Given the description of an element on the screen output the (x, y) to click on. 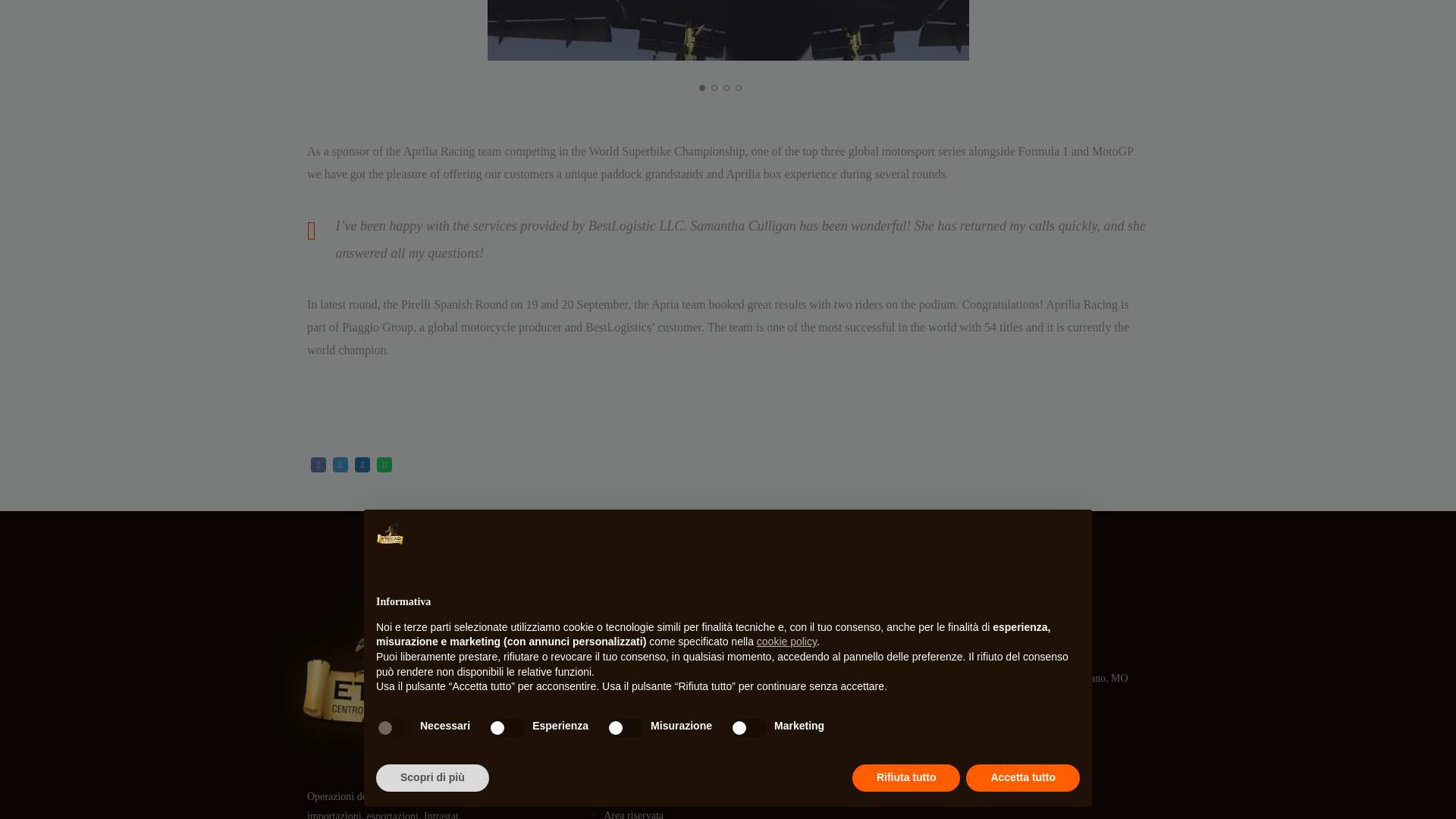
1 (727, 30)
1 (246, 30)
